Given the description of an element on the screen output the (x, y) to click on. 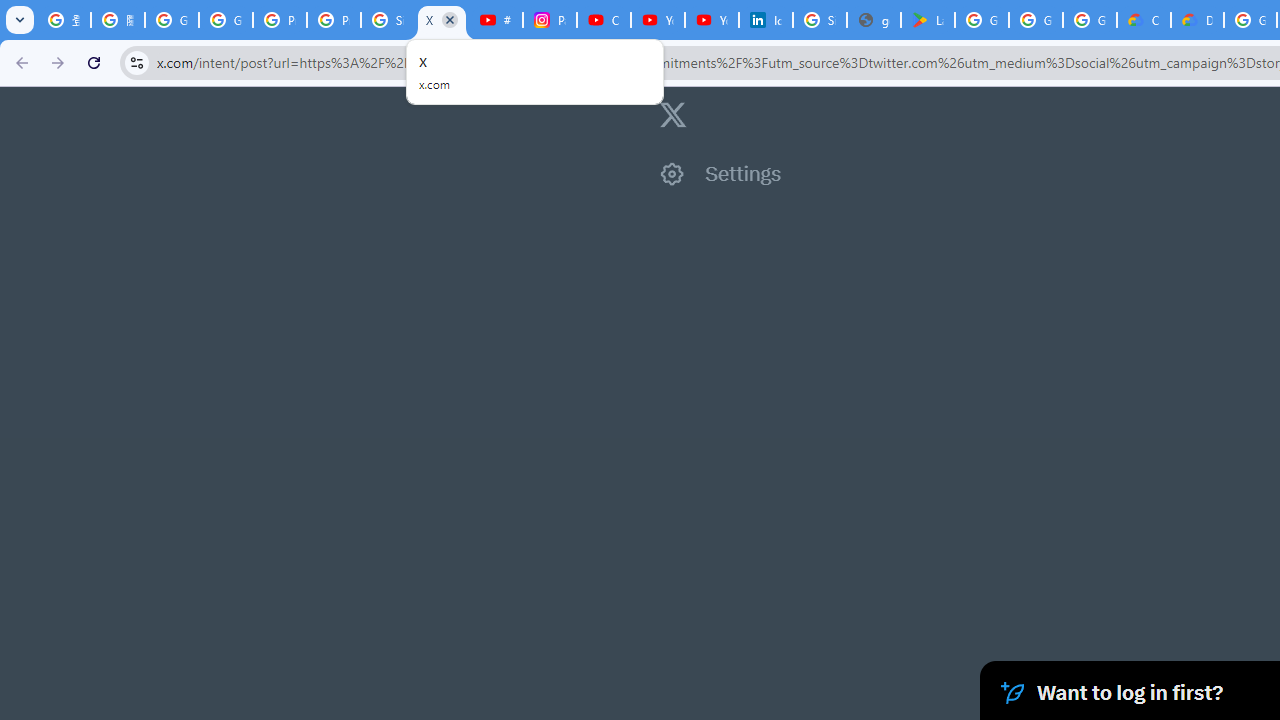
YouTube Culture & Trends - YouTube Top 10, 2021 (711, 20)
Privacy Help Center - Policies Help (333, 20)
google_privacy_policy_en.pdf (874, 20)
Sign in - Google Accounts (387, 20)
Google Workspace - Specific Terms (1035, 20)
Customer Care | Google Cloud (1144, 20)
